Given the description of an element on the screen output the (x, y) to click on. 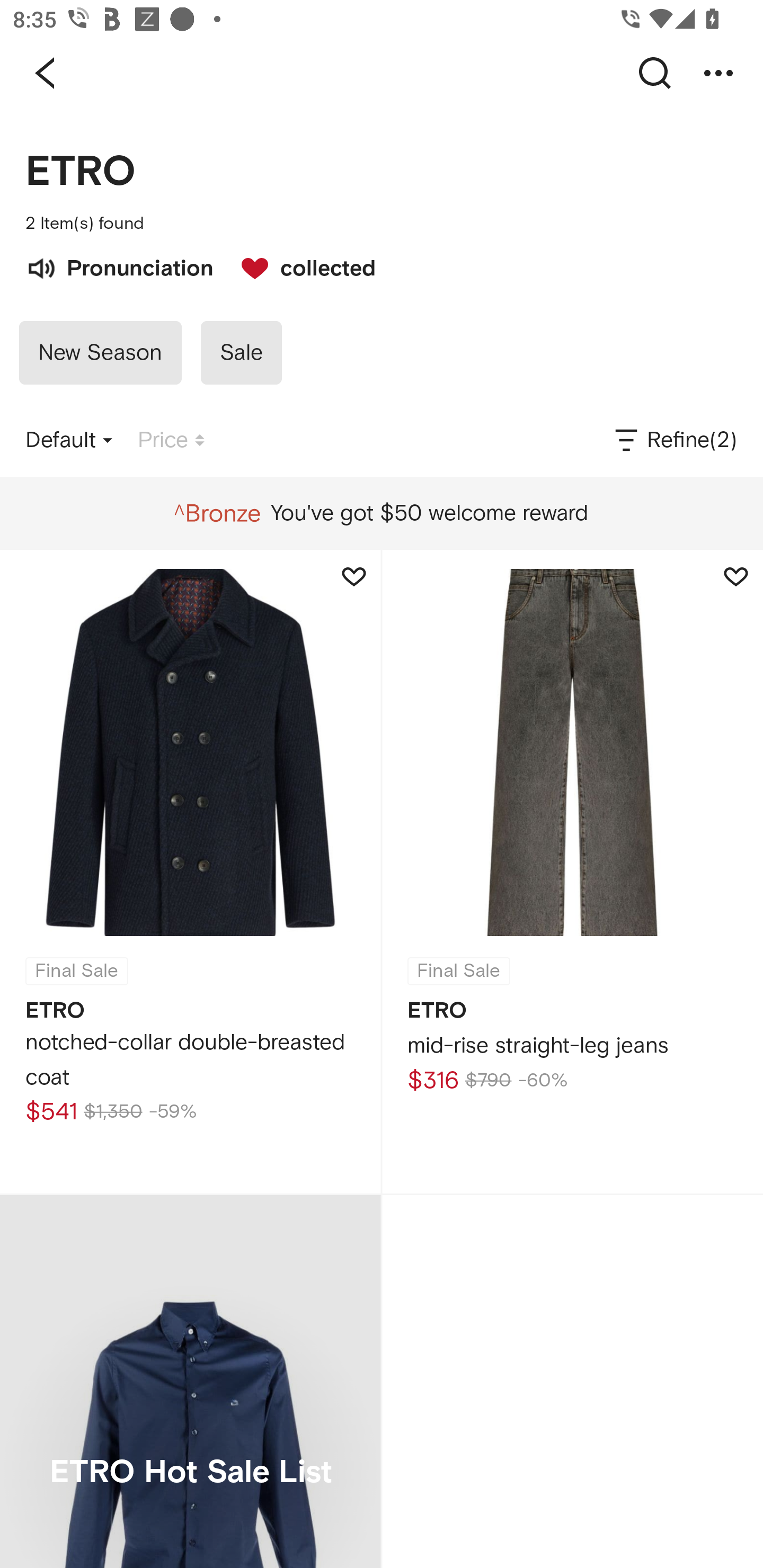
Pronunciation (119, 266)
collected (298, 266)
New Season (100, 352)
Sale (240, 352)
Default (68, 440)
Price (171, 440)
Refine(2) (674, 440)
You've got $50 welcome reward (381, 513)
ETRO Hot Sale List (190, 1381)
